Given the description of an element on the screen output the (x, y) to click on. 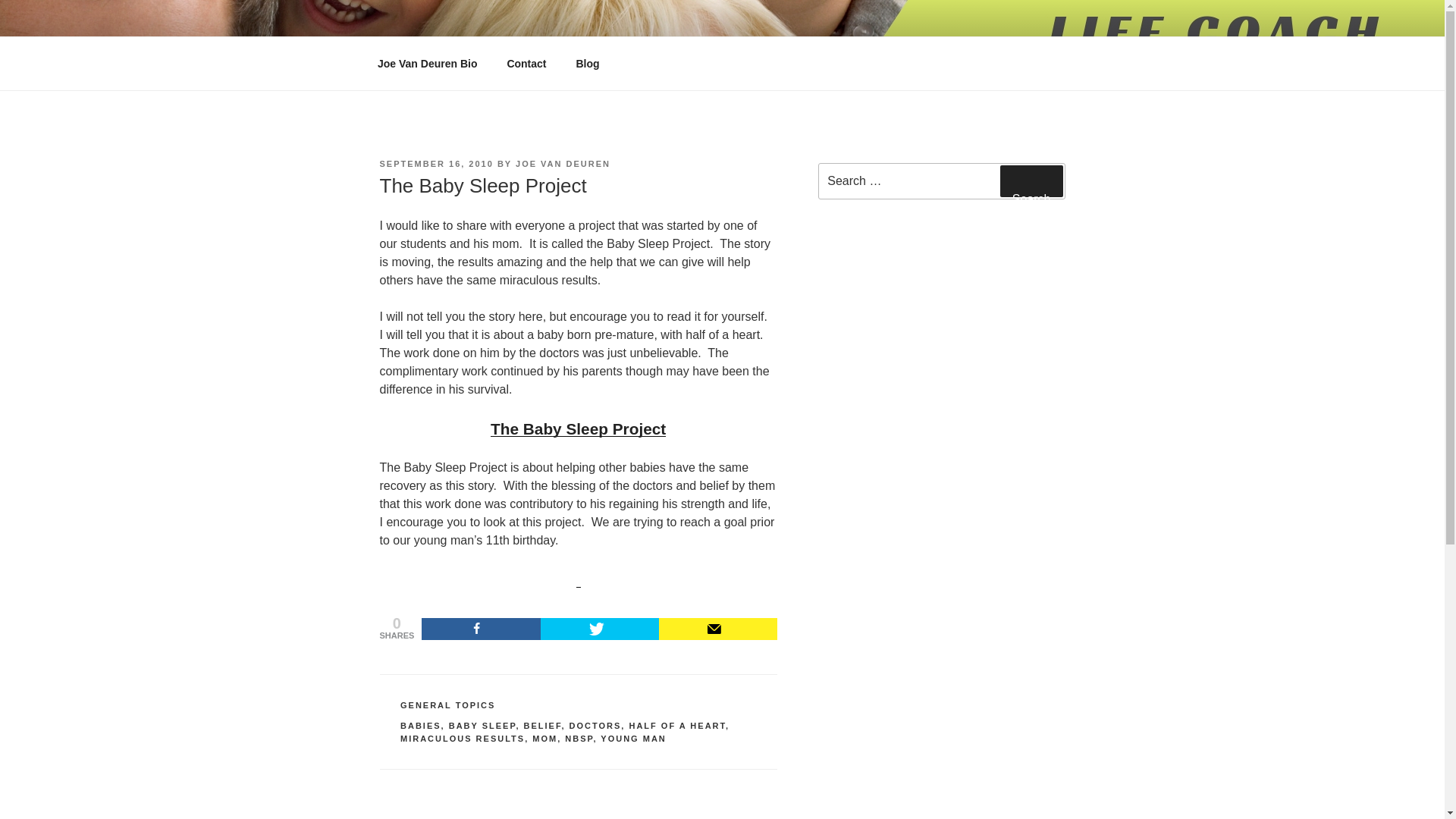
BABIES (420, 725)
BELIEF (541, 725)
Blog (587, 63)
MIRACULOUS RESULTS (462, 737)
Subscribe (718, 628)
GENERAL TOPICS (447, 705)
Share (481, 628)
MOM (544, 737)
DOCTORS (595, 725)
Search (1031, 181)
